Given the description of an element on the screen output the (x, y) to click on. 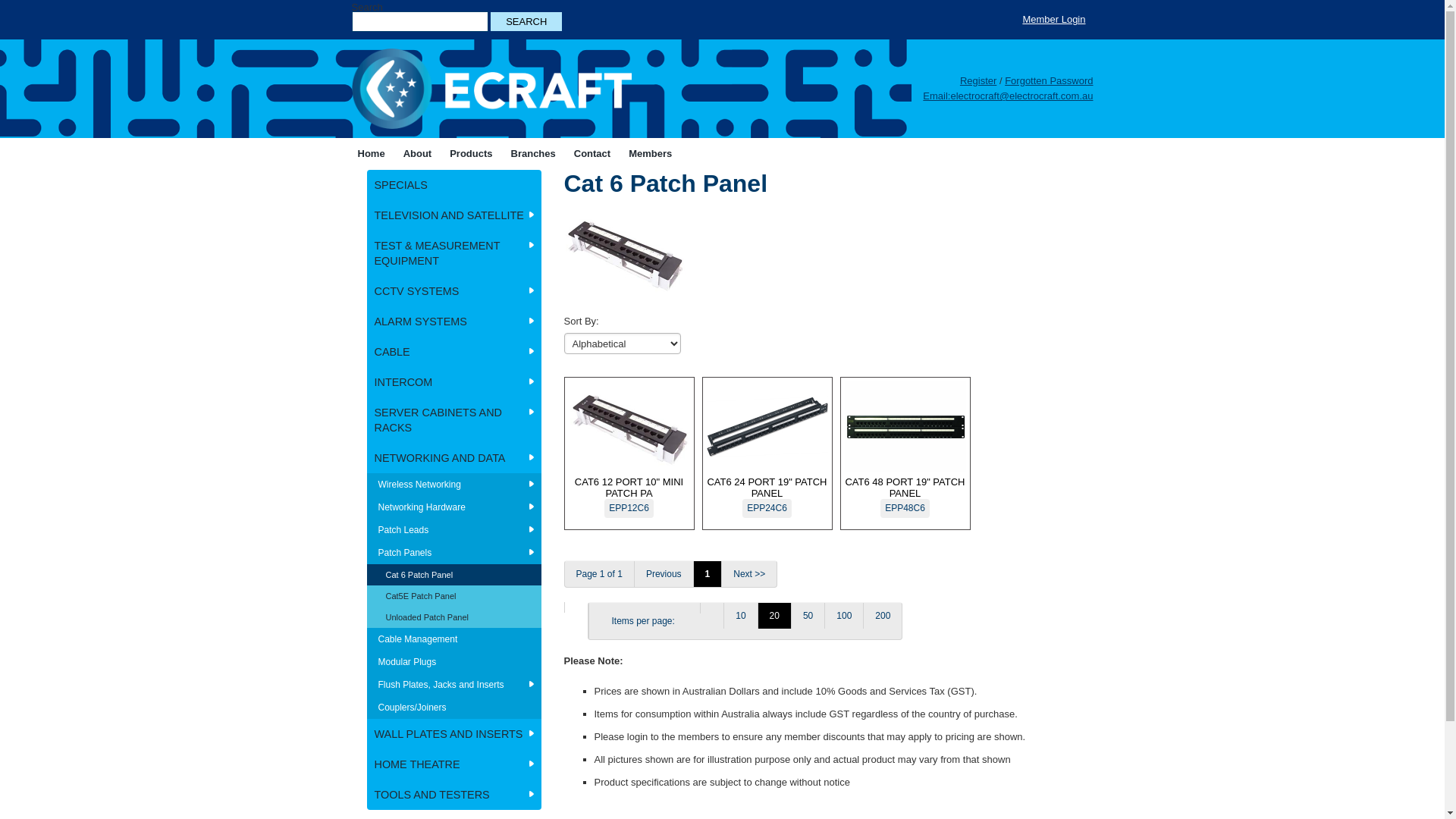
Flush Plates, Jacks and Inserts Element type: text (454, 684)
Cat 6 Patch Panel Element type: text (454, 574)
Page 1 of 1
Previous
1
Next >> Element type: text (821, 573)
ALARM SYSTEMS Element type: text (454, 321)
Home Element type: text (371, 153)
50 Element type: text (807, 615)
Search Element type: text (525, 21)
Cat5E Patch Panel Element type: text (454, 595)
Branches Element type: text (533, 153)
Join Element type: text (637, 153)
Email:electrocraft@electrocraft.com.au Element type: text (1007, 95)
200 Element type: text (881, 615)
cat6 48 port 19 patch panel Element type: hover (905, 426)
Member Login Element type: text (1053, 19)
Products Element type: text (470, 153)
Contact Element type: text (591, 153)
CAT6 24 PORT 19" PATCH PANEL
EPP24C6 Element type: text (767, 449)
NETWORKING AND DATA Element type: text (454, 457)
CCTV SYSTEMS Element type: text (454, 291)
About Element type: text (417, 153)
cat 6 12 port mini patch panel Element type: hover (629, 426)
SERVER CABINETS AND RACKS Element type: text (454, 419)
Patch Panels Element type: text (454, 552)
Artarmon Element type: text (532, 153)
cat6 48 port 19 patch panel Element type: hover (575, 607)
Networking Hardware Element type: text (454, 506)
Couplers/Joiners Element type: text (454, 707)
Company Profile Element type: text (424, 160)
SPECIALS Element type: text (454, 184)
Cable Management Element type: text (454, 638)
CABLE Element type: text (454, 351)
HOME THEATRE Element type: text (454, 764)
Register Element type: text (978, 80)
Members Element type: text (649, 153)
WALL PLATES AND INSERTS Element type: text (454, 733)
TEST & MEASUREMENT EQUIPMENT Element type: text (454, 253)
Wireless Networking Element type: text (454, 484)
cat6 48 port 19 patch panel Element type: hover (711, 607)
10 Element type: text (739, 615)
TOOLS AND TESTERS Element type: text (454, 794)
Patch Leads Element type: text (454, 529)
Modular Plugs Element type: text (454, 661)
TELEVISION AND SATELLITE Element type: text (454, 215)
INTERCOM Element type: text (454, 382)
Forgotten Password Element type: text (1048, 80)
Items per page:  Element type: text (644, 620)
100 Element type: text (843, 615)
cat6 24 port 19 patch panel Element type: hover (767, 426)
CAT6 12 PORT 10" MINI PATCH PA
EPP12C6 Element type: text (629, 449)
CAT6 48 PORT 19" PATCH PANEL
EPP48C6 Element type: text (905, 449)
Specials Element type: text (468, 153)
Unloaded Patch Panel Element type: text (454, 616)
